Given the description of an element on the screen output the (x, y) to click on. 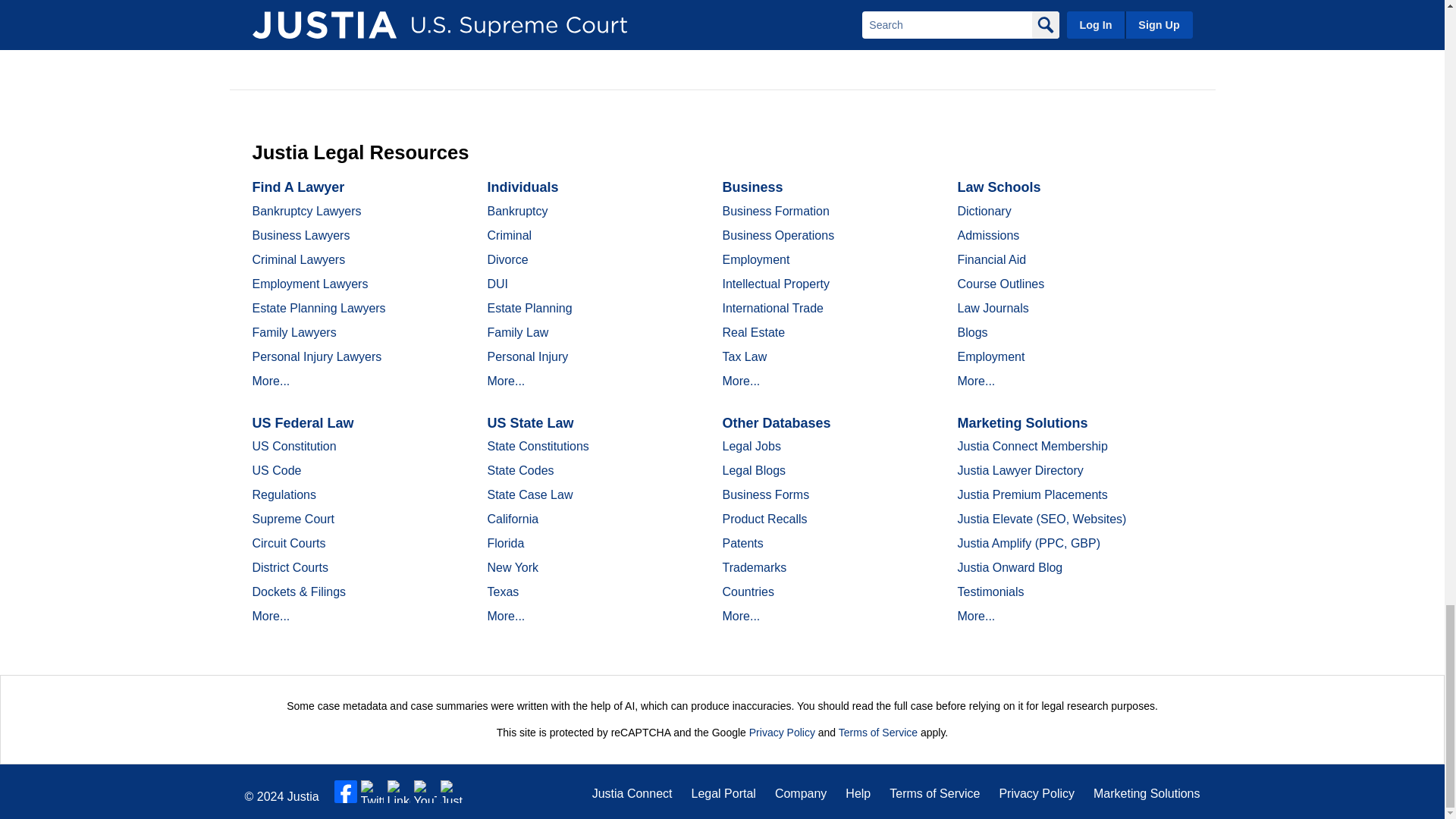
LinkedIn (398, 791)
Facebook (345, 791)
YouTube (424, 791)
Twitter (372, 791)
Justia Lawyer Directory (452, 791)
